Given the description of an element on the screen output the (x, y) to click on. 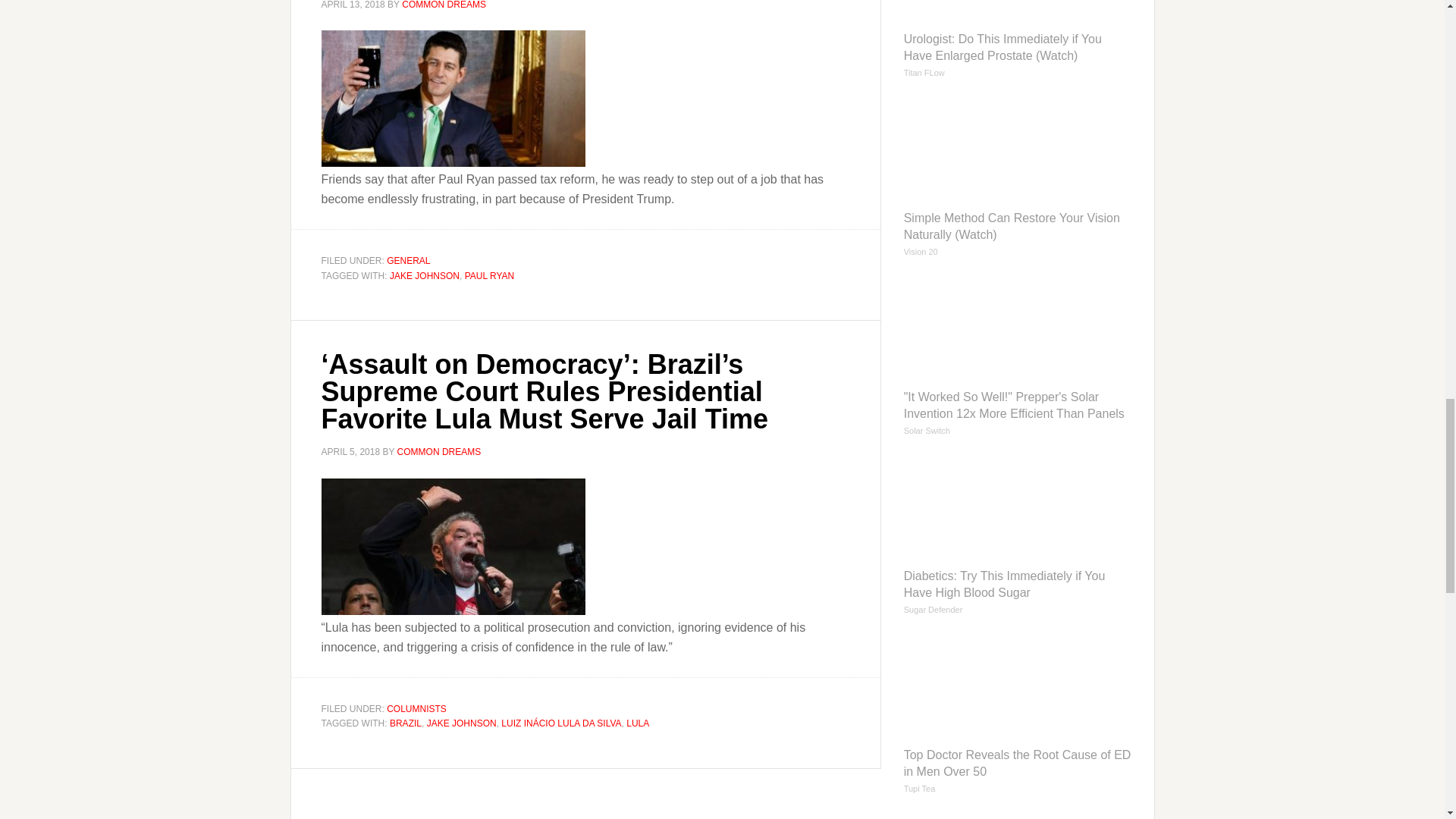
Top Doctor Reveals the Root Cause of ED in Men Over 50 (1018, 716)
Is My Space a Good Fit for Airbnb? (1018, 814)
